Given the description of an element on the screen output the (x, y) to click on. 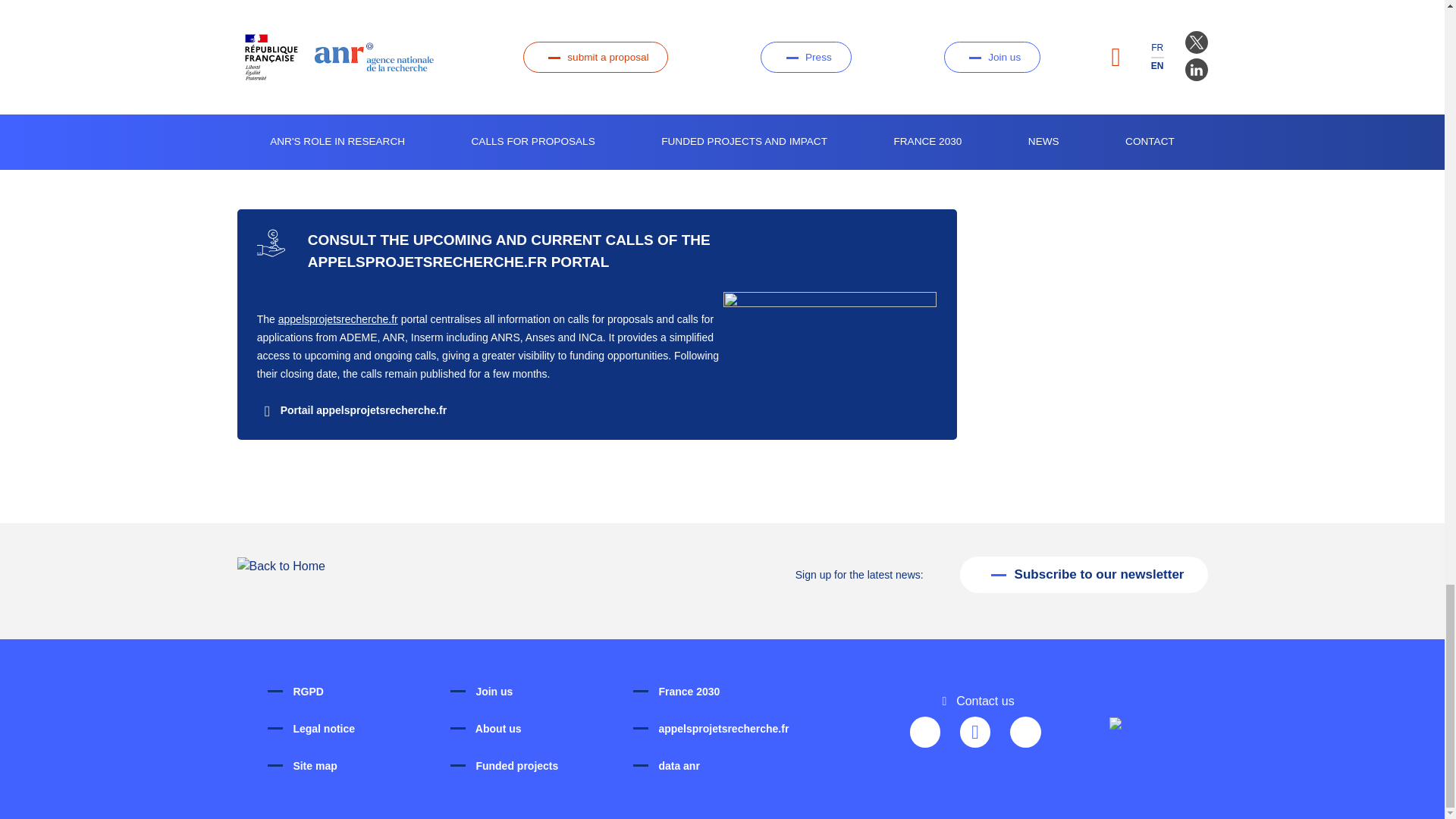
ANR on LinkedIn (975, 731)
Lien vers un site externe (351, 410)
RSS Feeds (1025, 731)
